Given the description of an element on the screen output the (x, y) to click on. 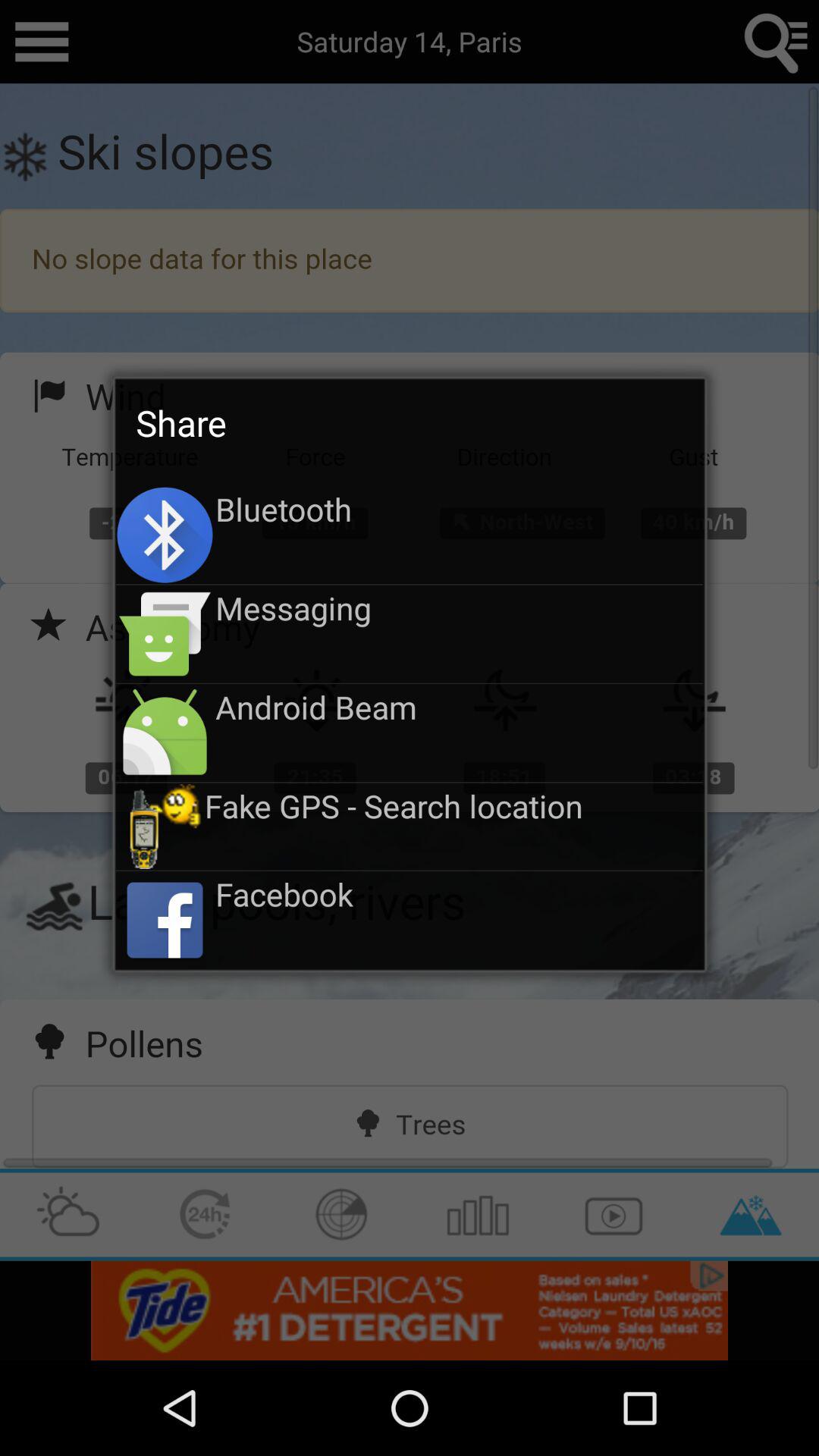
turn on the icon below share (458, 508)
